Given the description of an element on the screen output the (x, y) to click on. 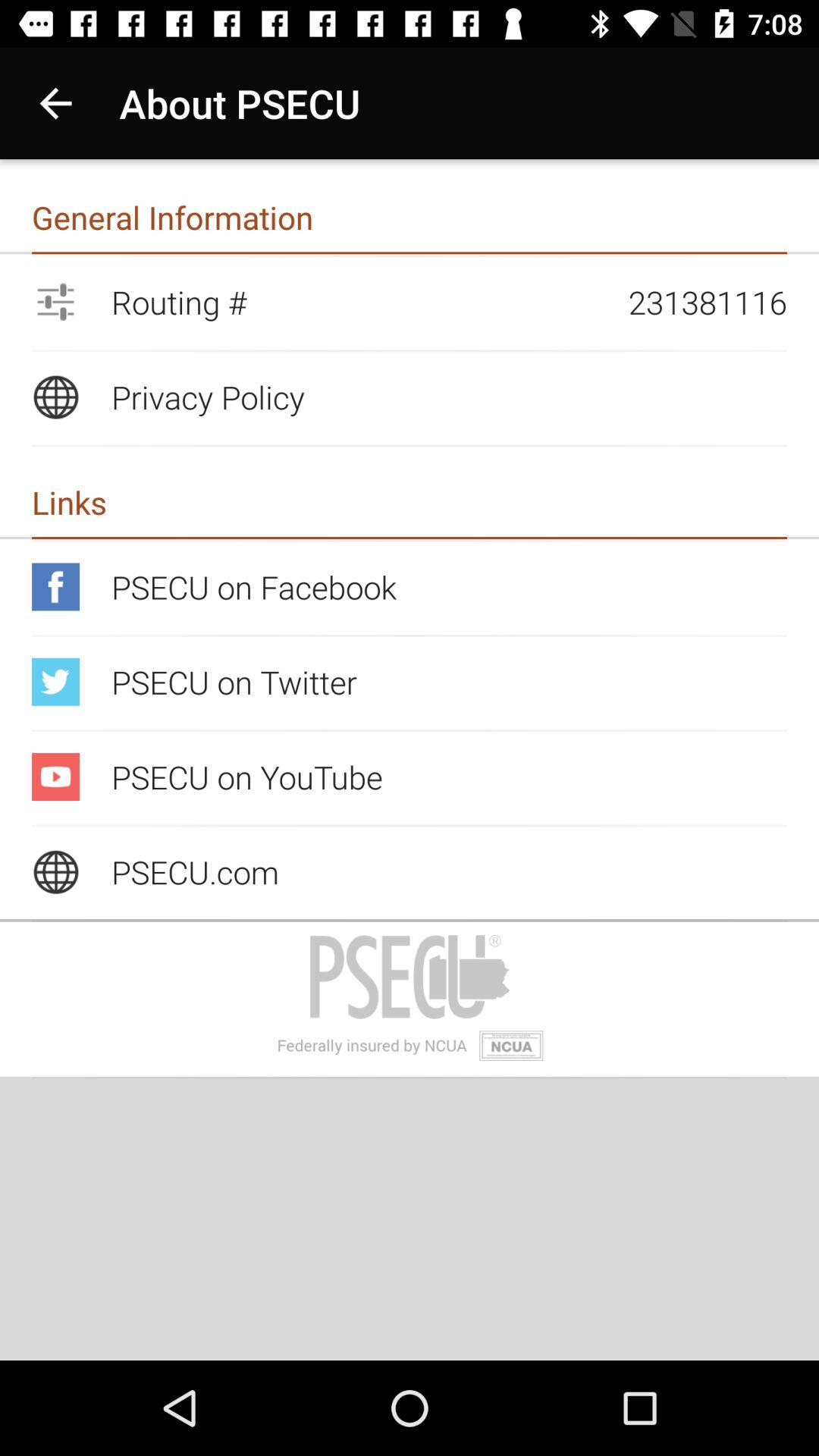
turn on item next to about psecu item (55, 103)
